Given the description of an element on the screen output the (x, y) to click on. 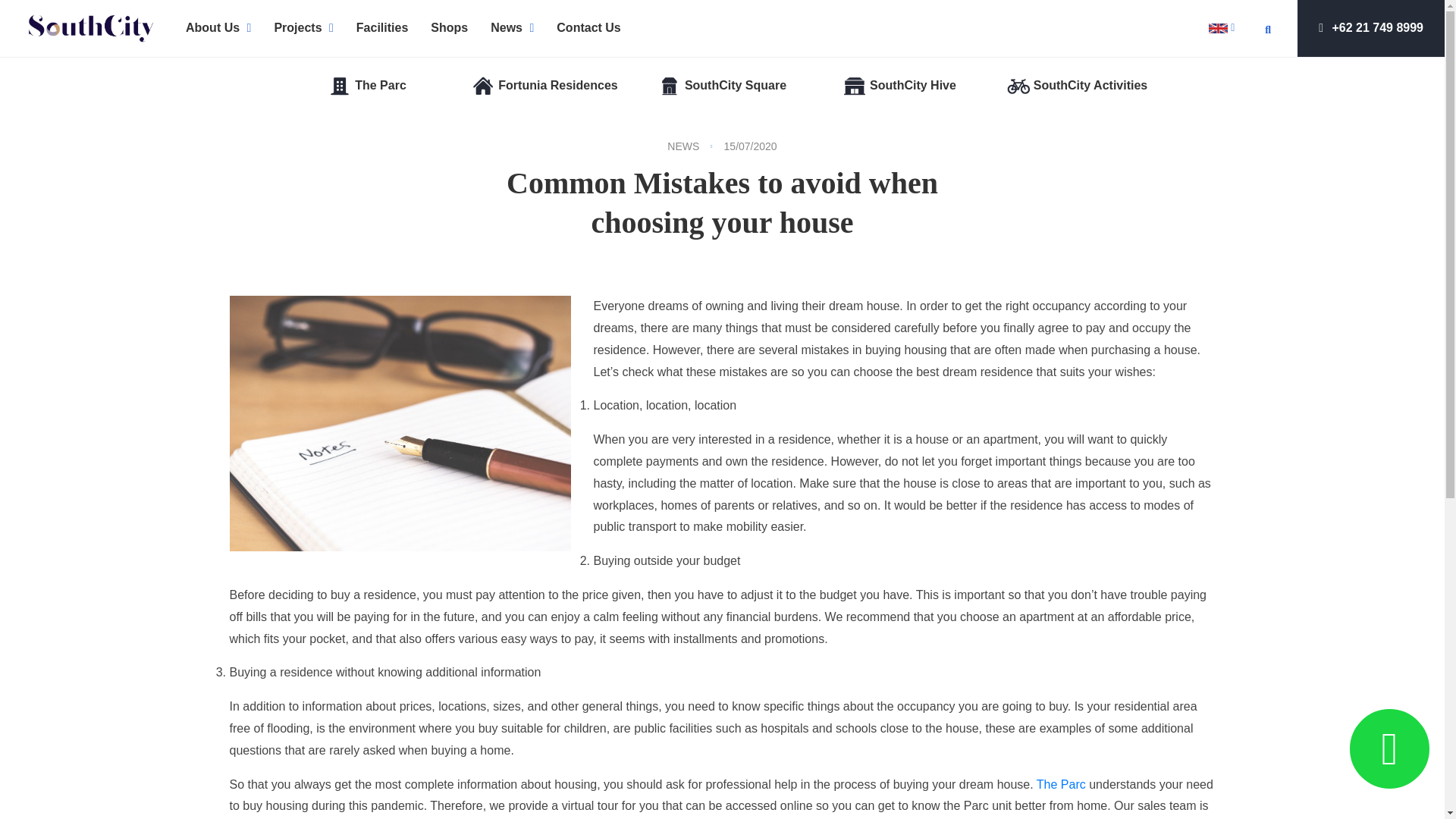
Projects (302, 27)
The Parc (367, 86)
SouthCity Hive (899, 86)
Fortunia Residences (544, 86)
SouthCity Activities (1076, 86)
Shops (449, 27)
SouthCity Square (721, 86)
Contact Us (587, 27)
Facilities (382, 27)
About Us (218, 27)
